Given the description of an element on the screen output the (x, y) to click on. 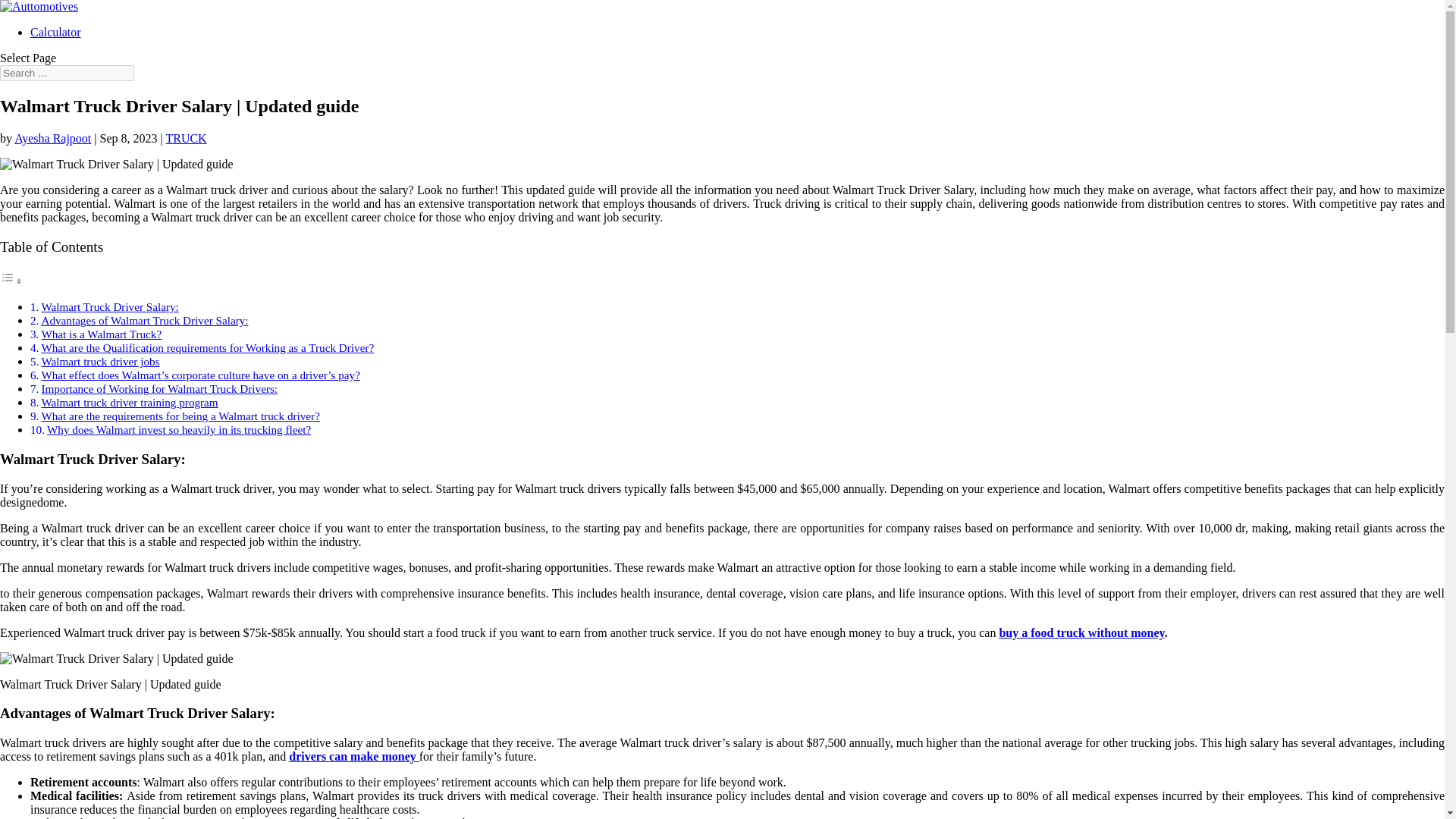
Posts by Ayesha Rajpoot (52, 137)
TRUCK (185, 137)
Walmart truck driver training program (128, 401)
What are the requirements for being a Walmart truck driver? (179, 415)
Search for: (66, 73)
What is a Walmart Truck? (100, 333)
Importance of Working for Walmart Truck Drivers: (159, 388)
Walmart truck driver jobs (99, 360)
Why does Walmart invest so heavily in its trucking fleet? (178, 429)
Ayesha Rajpoot (52, 137)
Walmart truck driver jobs (99, 360)
Advantages of Walmart Truck Driver Salary: (143, 319)
Walmart truck driver training program (128, 401)
Walmart Truck Driver Salary: (108, 306)
